Given the description of an element on the screen output the (x, y) to click on. 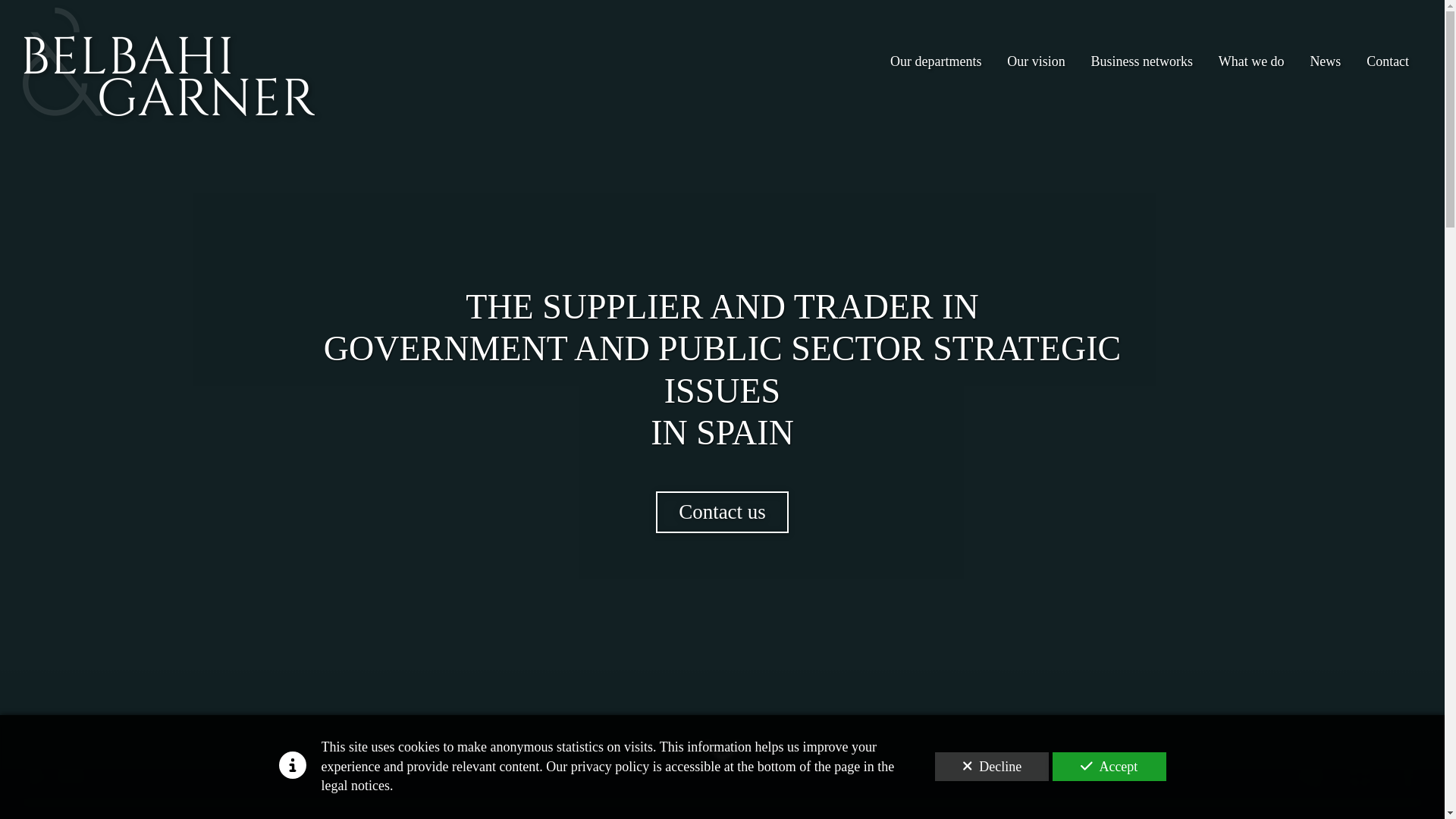
Contact us (722, 512)
Business networks (1141, 56)
Contact (1388, 55)
News (1325, 55)
Our vision (1035, 56)
What we do (1251, 55)
Our departments (935, 56)
